Given the description of an element on the screen output the (x, y) to click on. 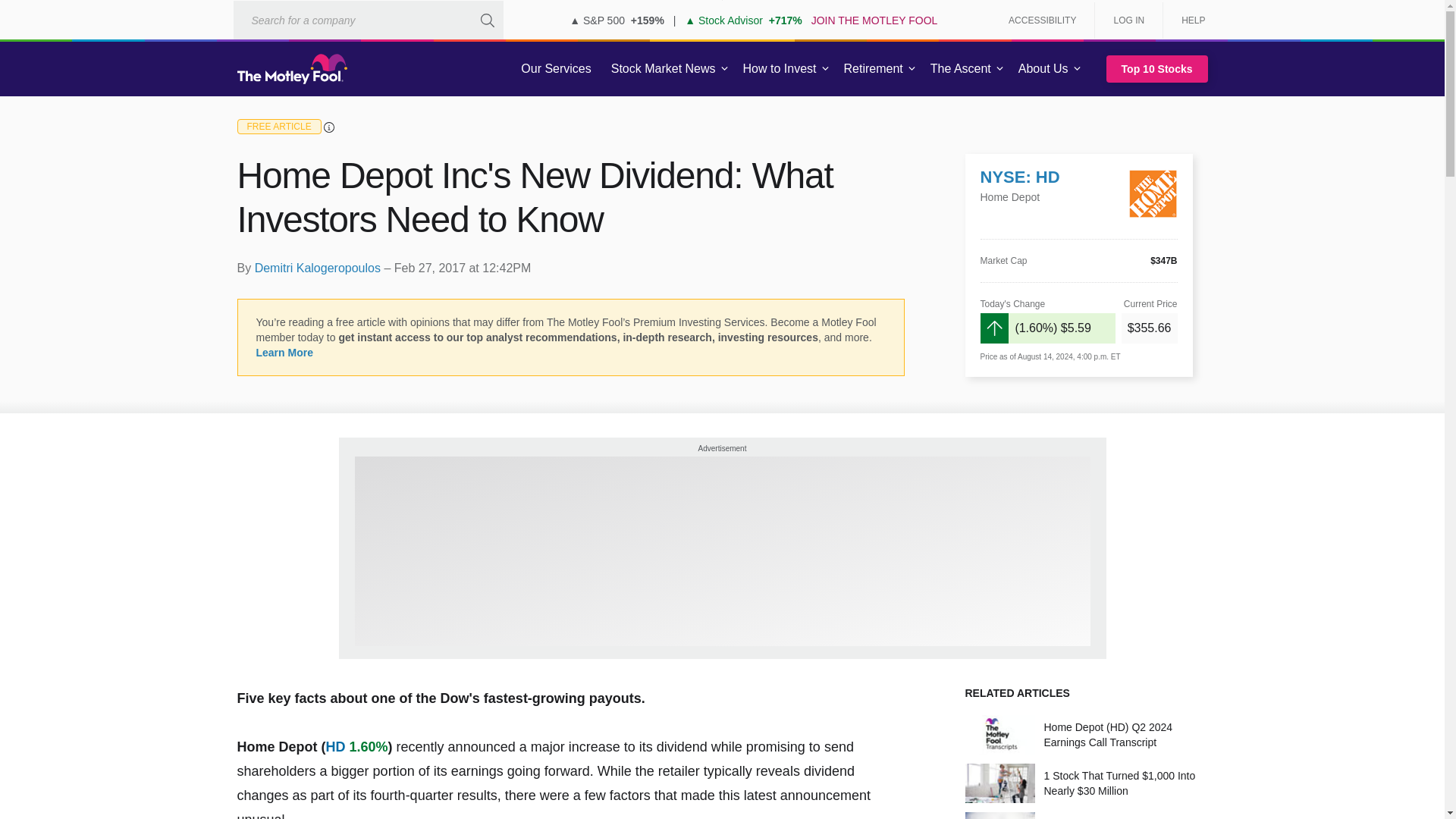
LOG IN (1128, 19)
HELP (1187, 19)
Our Services (555, 68)
How to Invest (779, 68)
ACCESSIBILITY (1042, 19)
Stock Market News (662, 68)
